Given the description of an element on the screen output the (x, y) to click on. 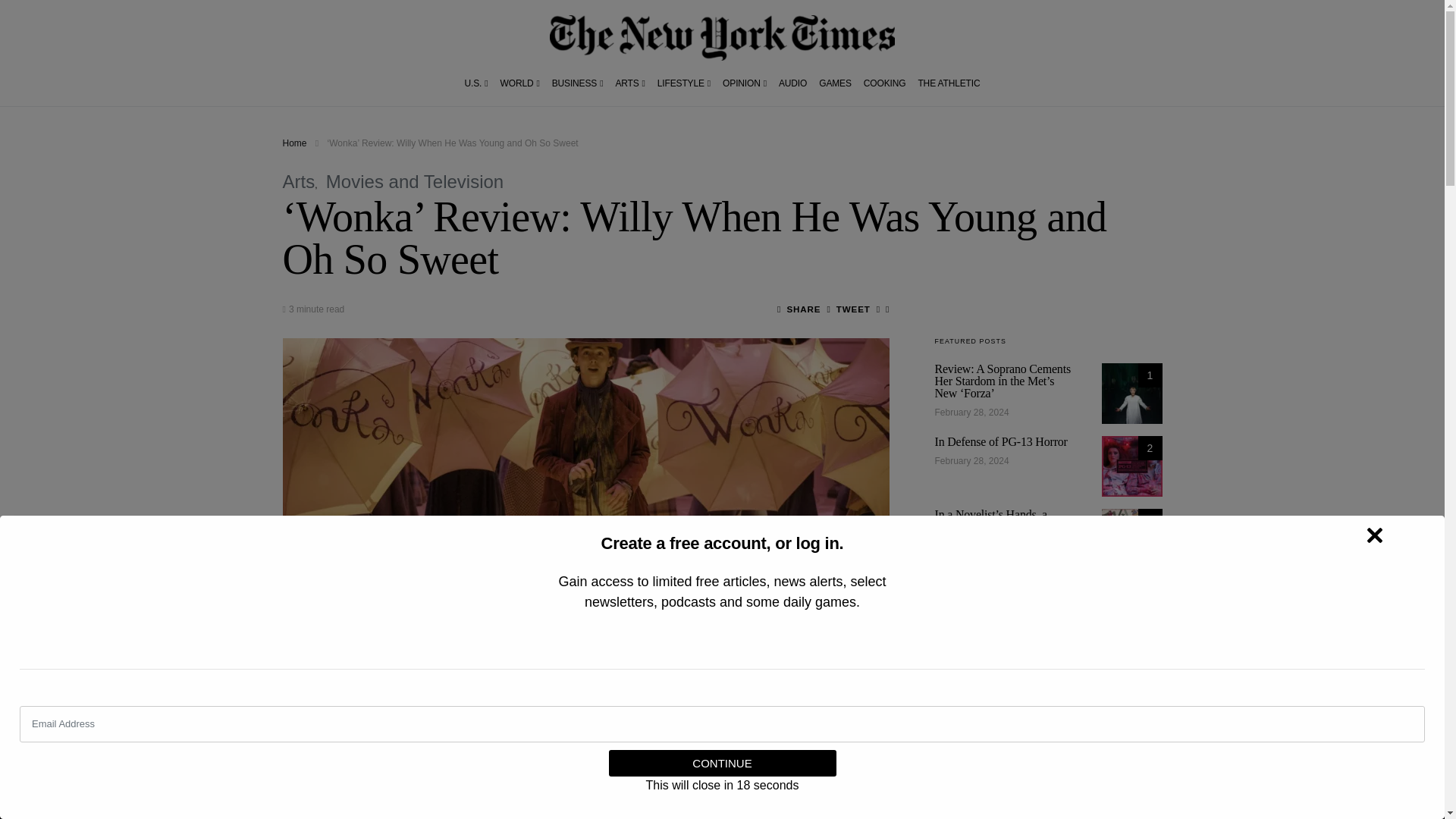
Continue (721, 763)
